Given the description of an element on the screen output the (x, y) to click on. 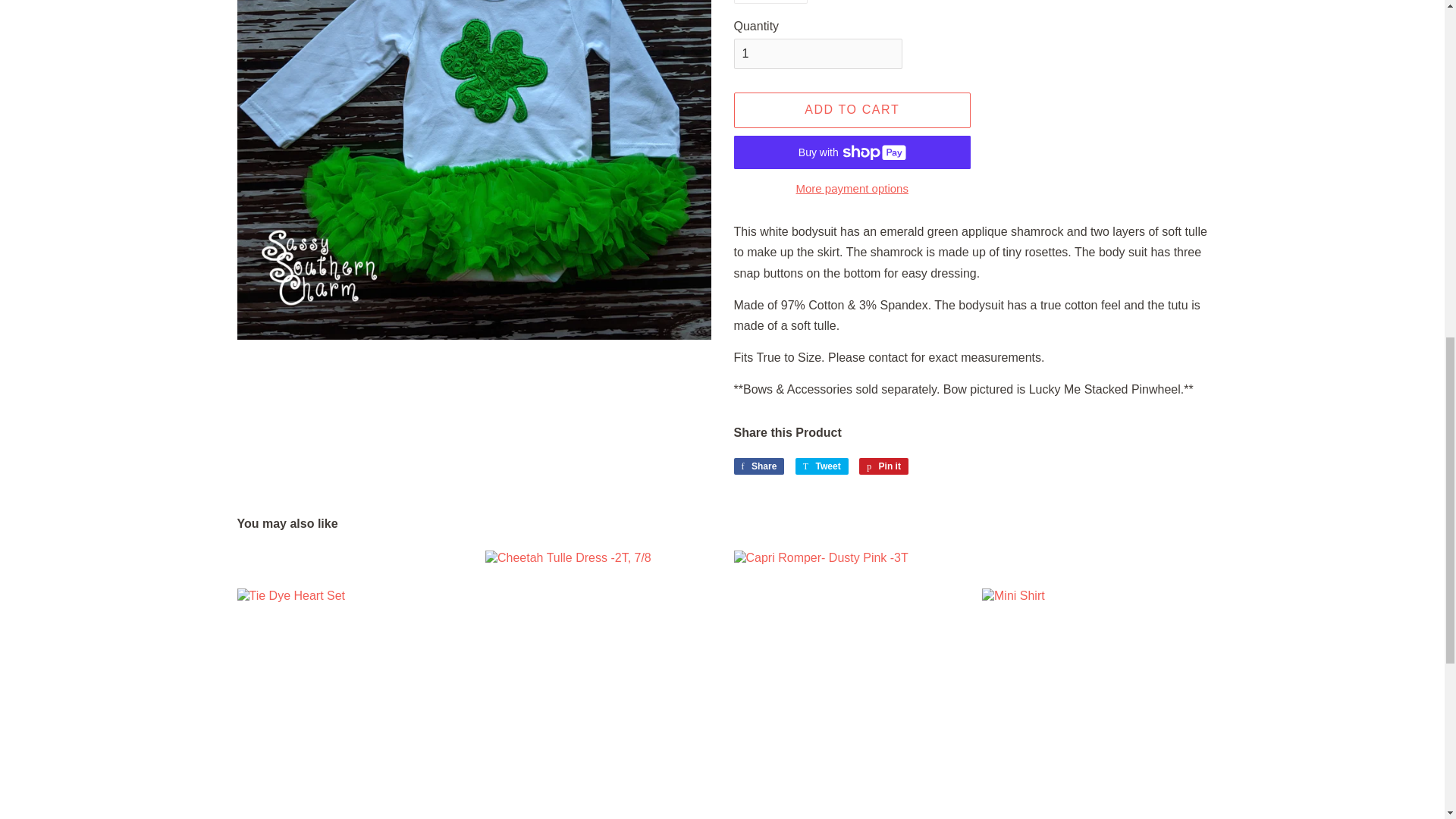
Pin on Pinterest (883, 466)
Tweet on Twitter (821, 466)
Share on Facebook (758, 466)
1 (817, 53)
